Given the description of an element on the screen output the (x, y) to click on. 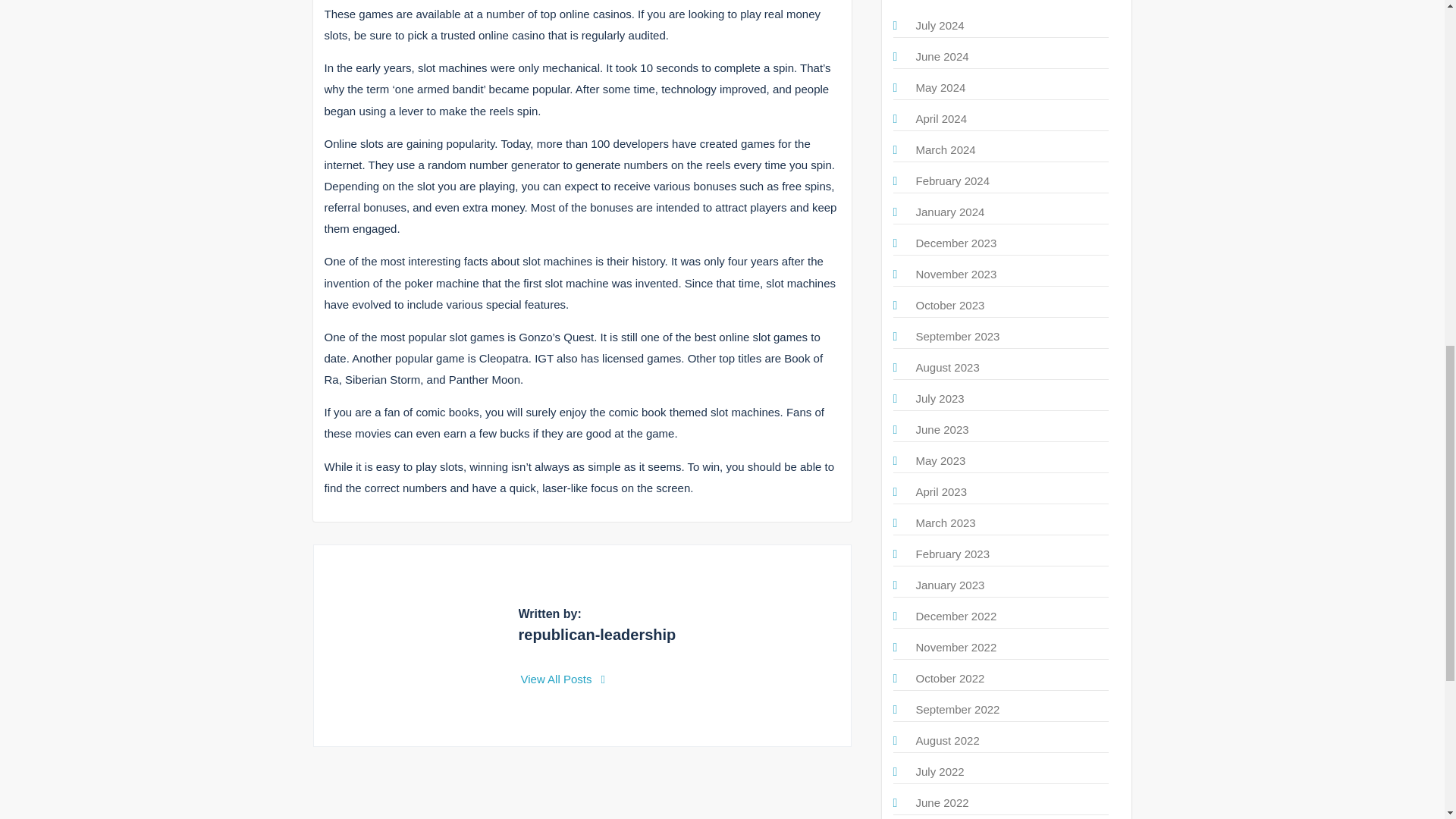
June 2023 (942, 429)
February 2024 (952, 180)
February 2023 (952, 553)
July 2024 (939, 24)
December 2022 (956, 615)
October 2022 (950, 677)
September 2023 (957, 336)
November 2023 (956, 273)
March 2023 (945, 522)
August 2022 (947, 739)
September 2022 (957, 708)
May 2023 (940, 460)
April 2024 (941, 118)
November 2022 (956, 646)
May 2024 (940, 87)
